Given the description of an element on the screen output the (x, y) to click on. 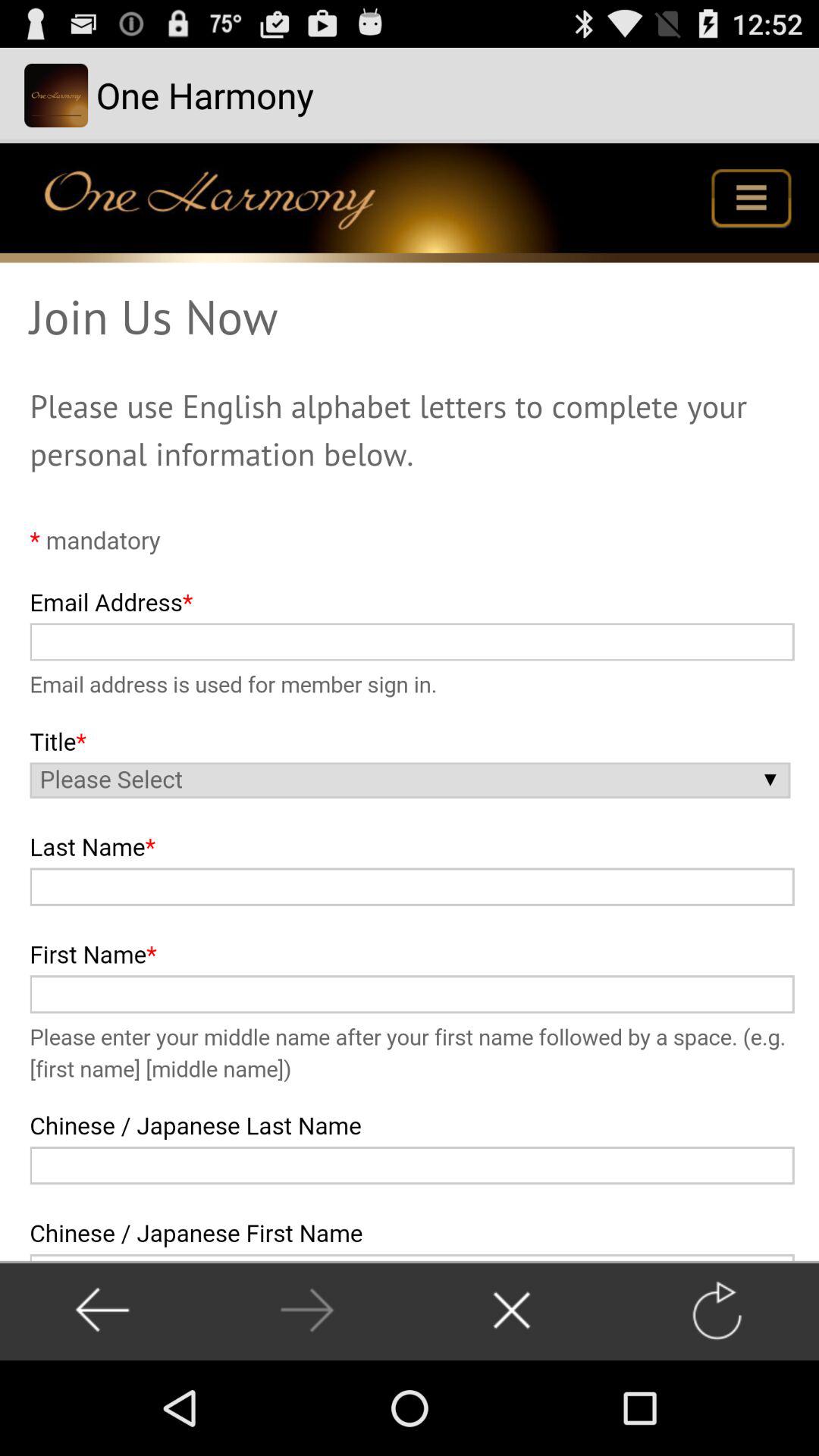
subscribe page (409, 701)
